Given the description of an element on the screen output the (x, y) to click on. 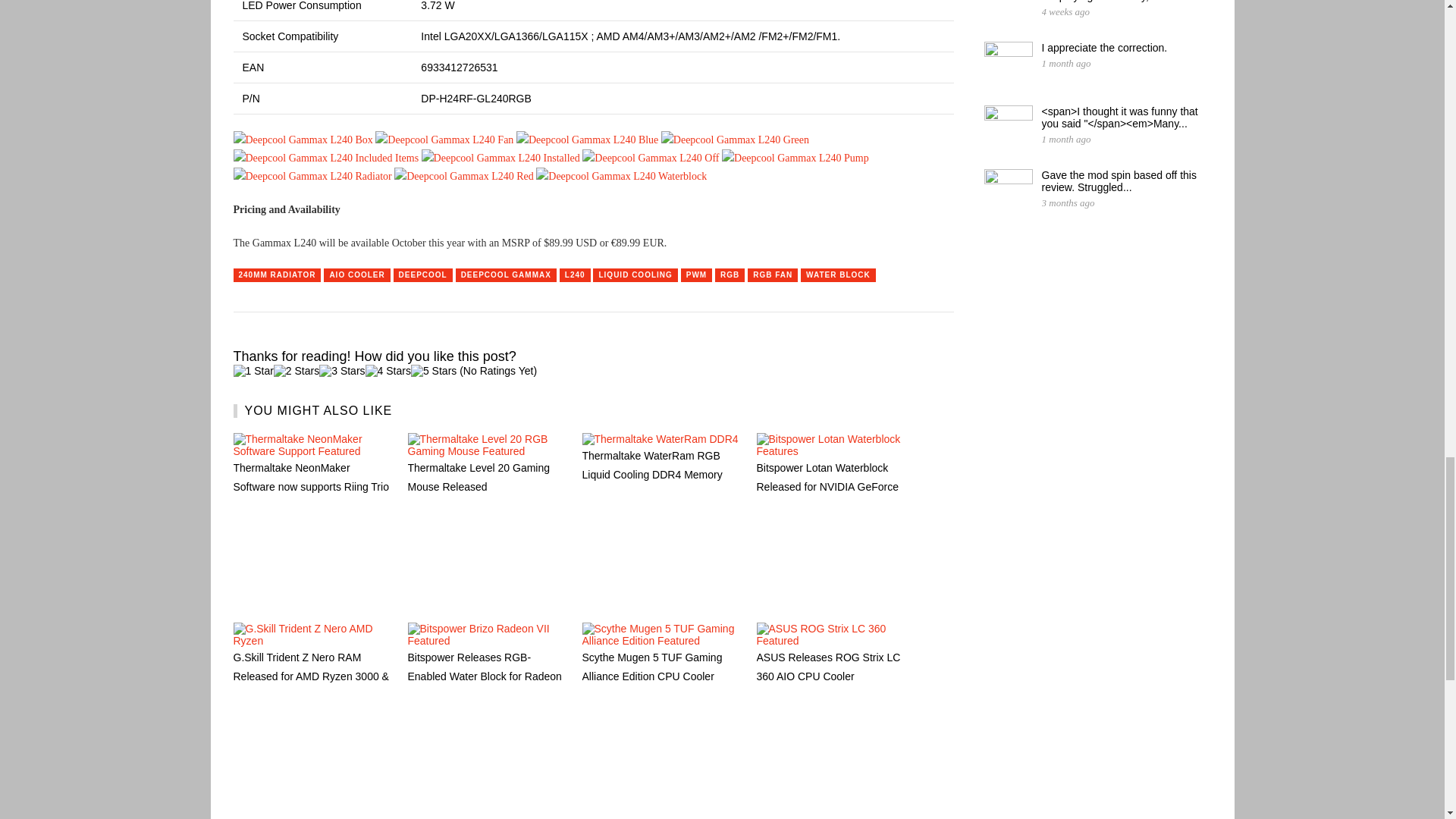
4 Stars (387, 370)
1 Star (252, 370)
2 Stars (295, 370)
3 Stars (341, 370)
